Given the description of an element on the screen output the (x, y) to click on. 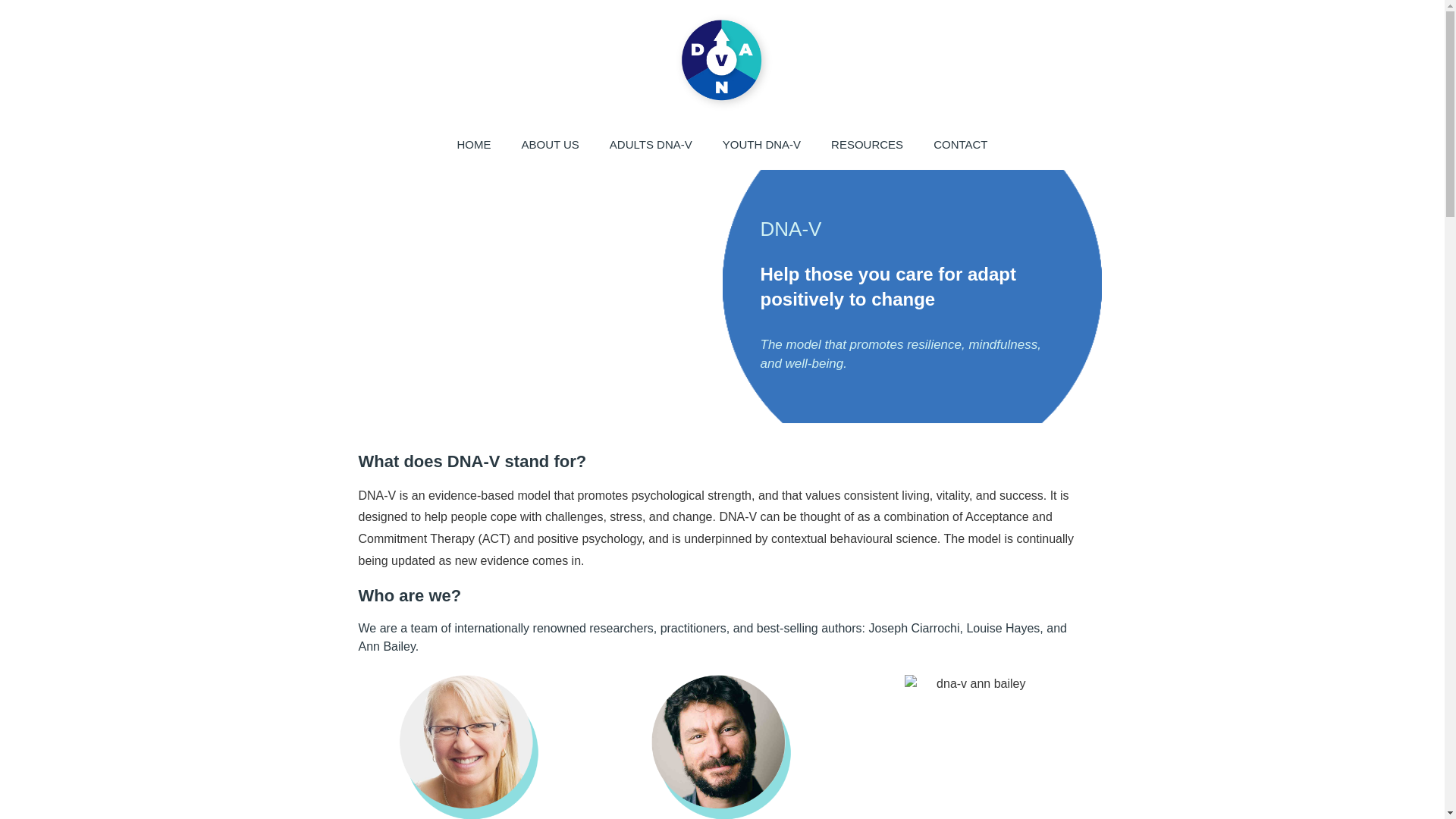
YOUTH DNA-V (761, 144)
ADULTS DNA-V (650, 144)
RESOURCES (866, 144)
CONTACT (960, 144)
ABOUT US (549, 144)
HOME (473, 144)
